Given the description of an element on the screen output the (x, y) to click on. 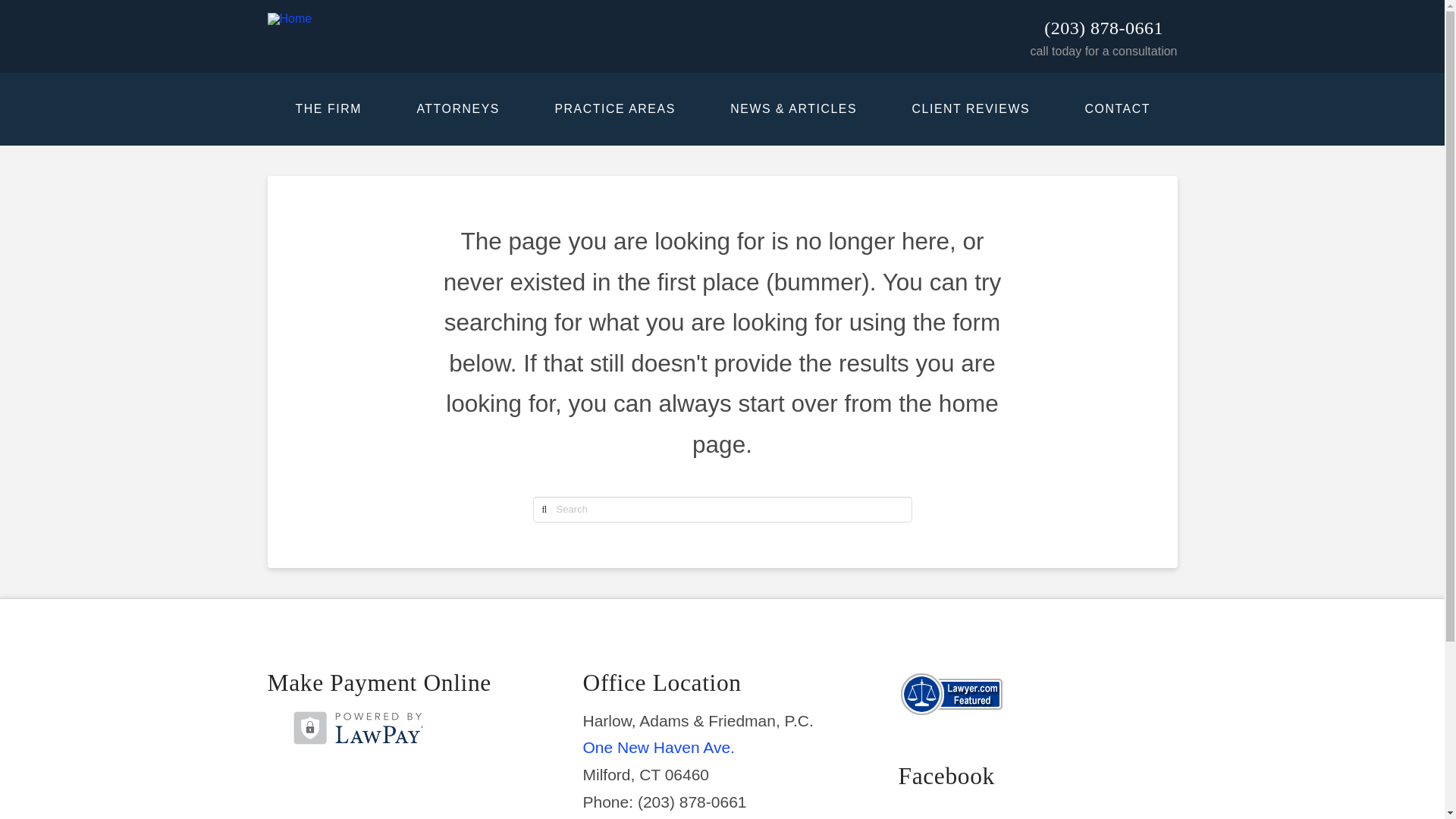
CLIENT REVIEWS (970, 108)
THE FIRM (327, 108)
CONTACT (1116, 108)
ATTORNEYS (456, 108)
One New Haven Ave. (657, 746)
PRACTICE AREAS (614, 108)
